Given the description of an element on the screen output the (x, y) to click on. 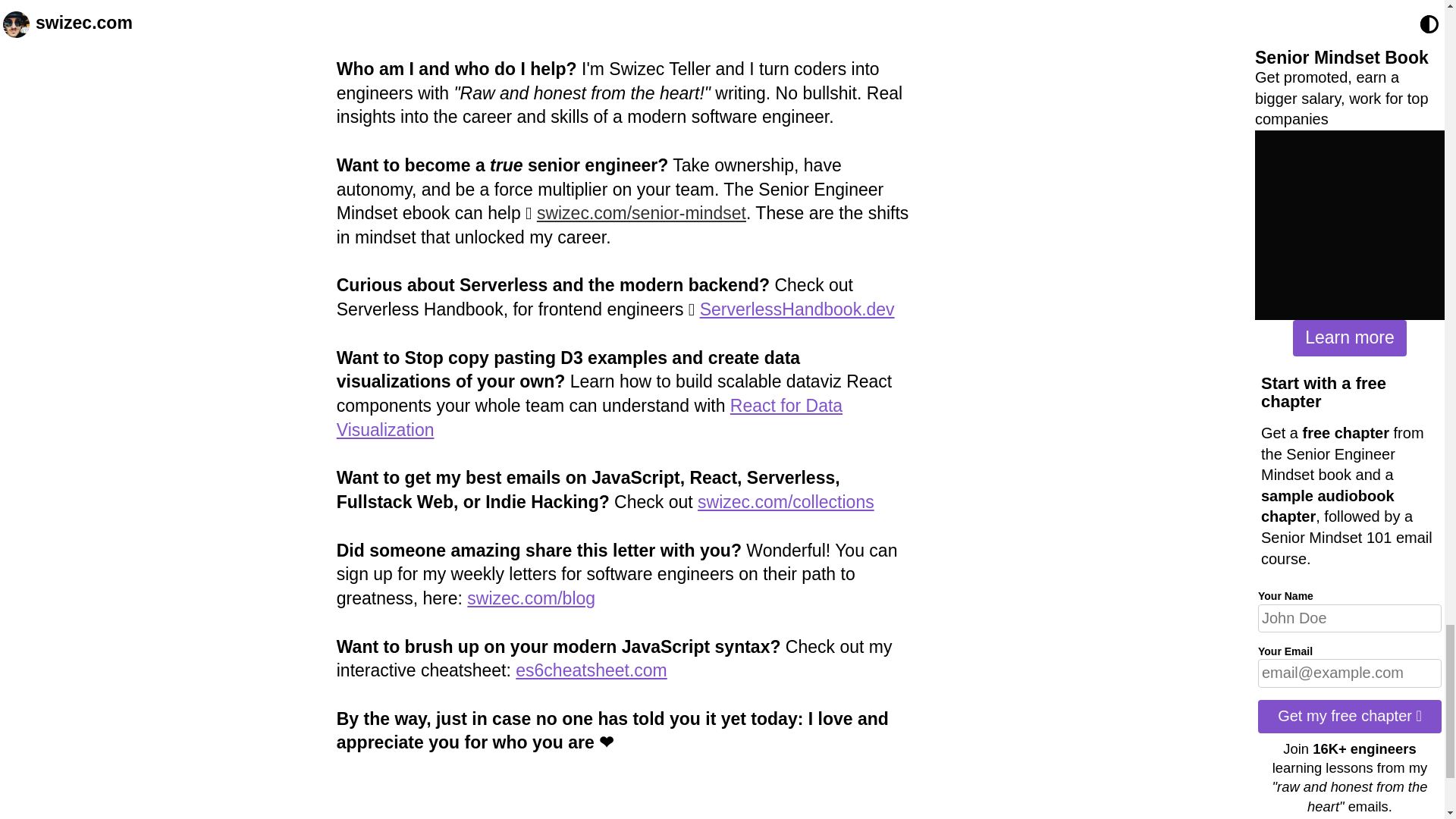
twitter (359, 20)
ServerlessHandbook.dev (797, 309)
